Given the description of an element on the screen output the (x, y) to click on. 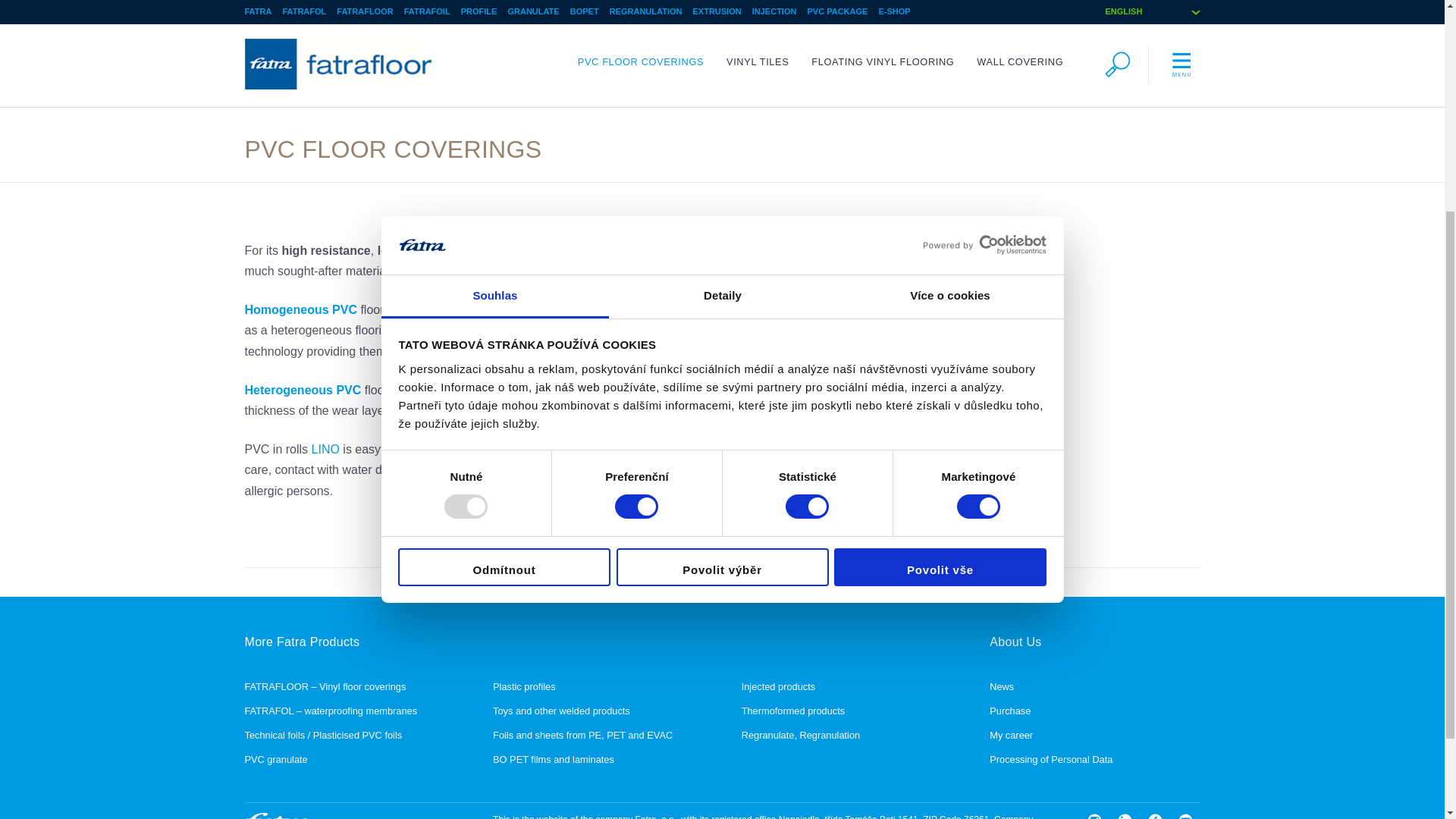
Souhlas (494, 3)
Detaily (721, 3)
